Given the description of an element on the screen output the (x, y) to click on. 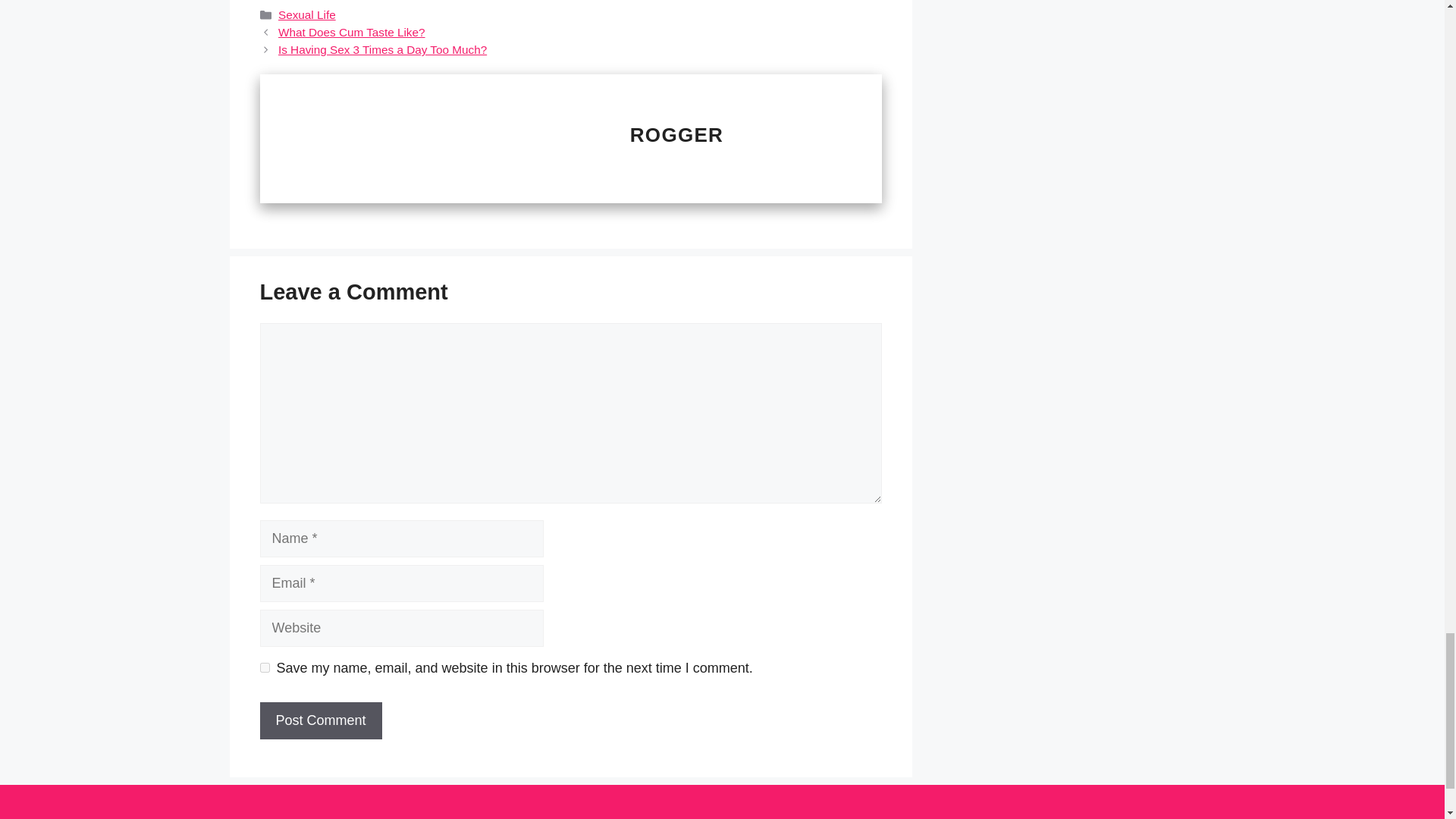
Sexual Life (307, 14)
yes (264, 667)
Is Having Sex 3 Times a Day Too Much? (382, 49)
Post Comment (320, 720)
What Does Cum Taste Like? (351, 31)
Post Comment (320, 720)
